Given the description of an element on the screen output the (x, y) to click on. 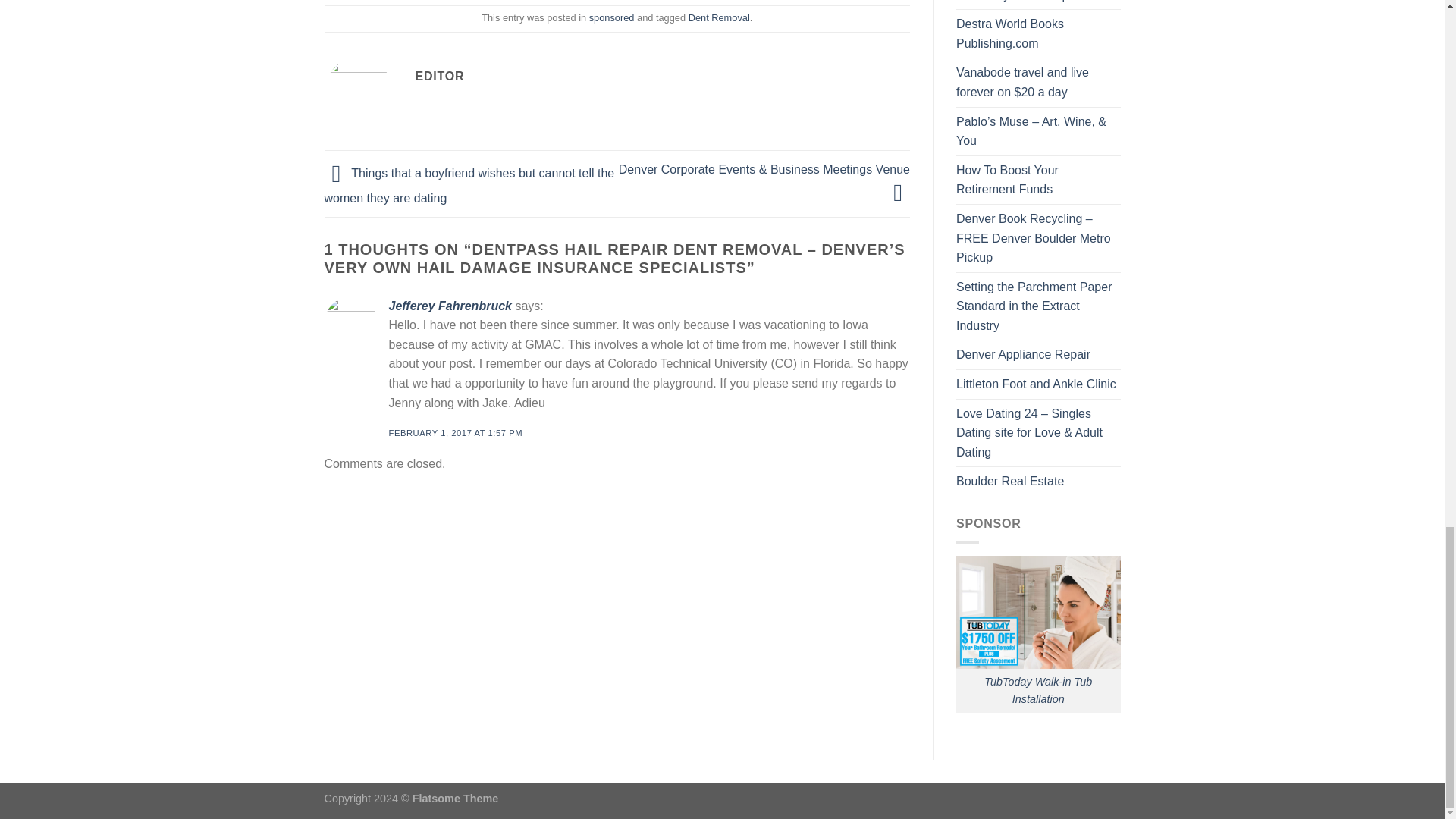
Dent Removal (718, 17)
sponsored (611, 17)
Jefferey Fahrenbruck (449, 305)
